Given the description of an element on the screen output the (x, y) to click on. 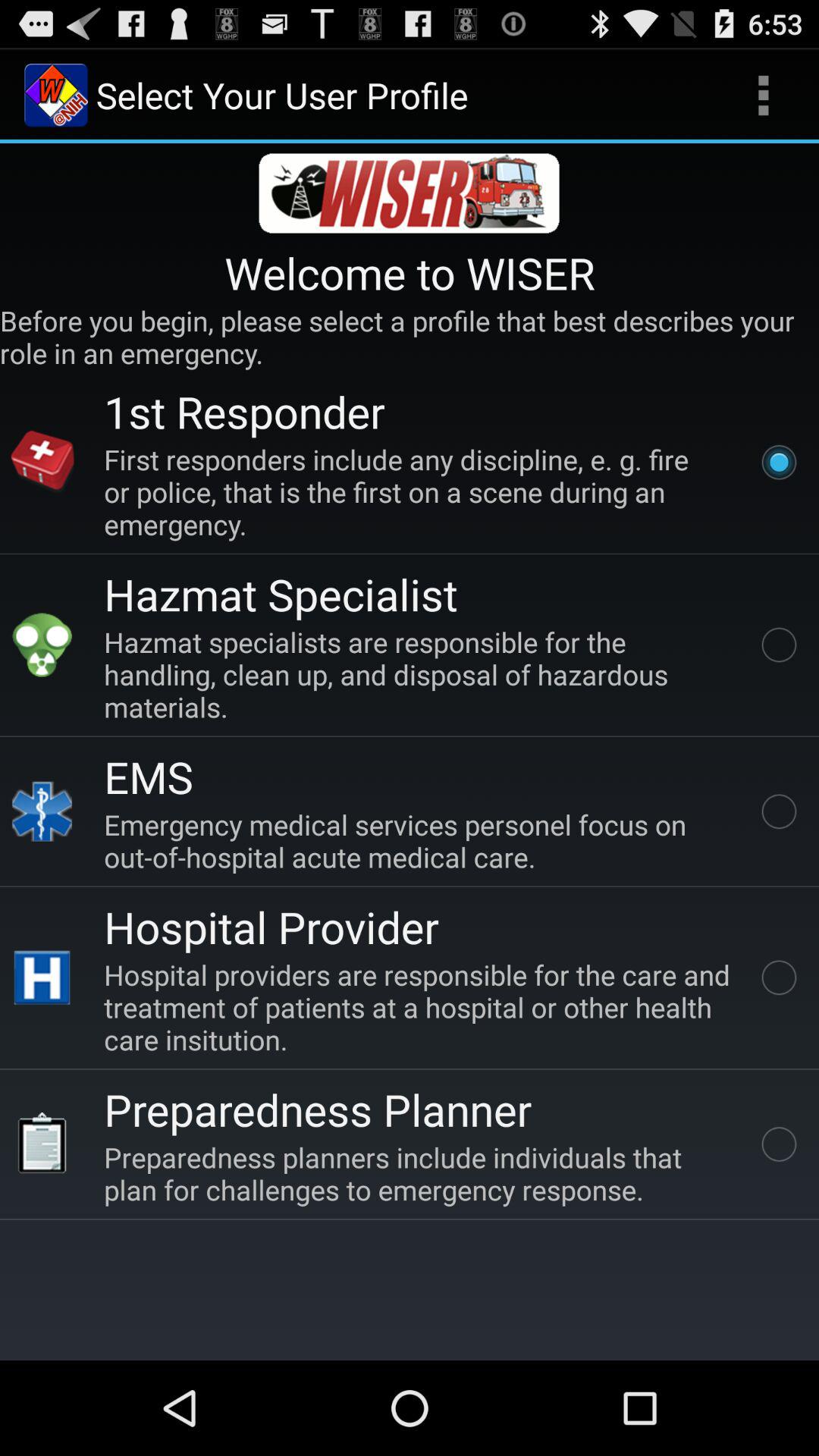
press item above hospital providers are (271, 926)
